Given the description of an element on the screen output the (x, y) to click on. 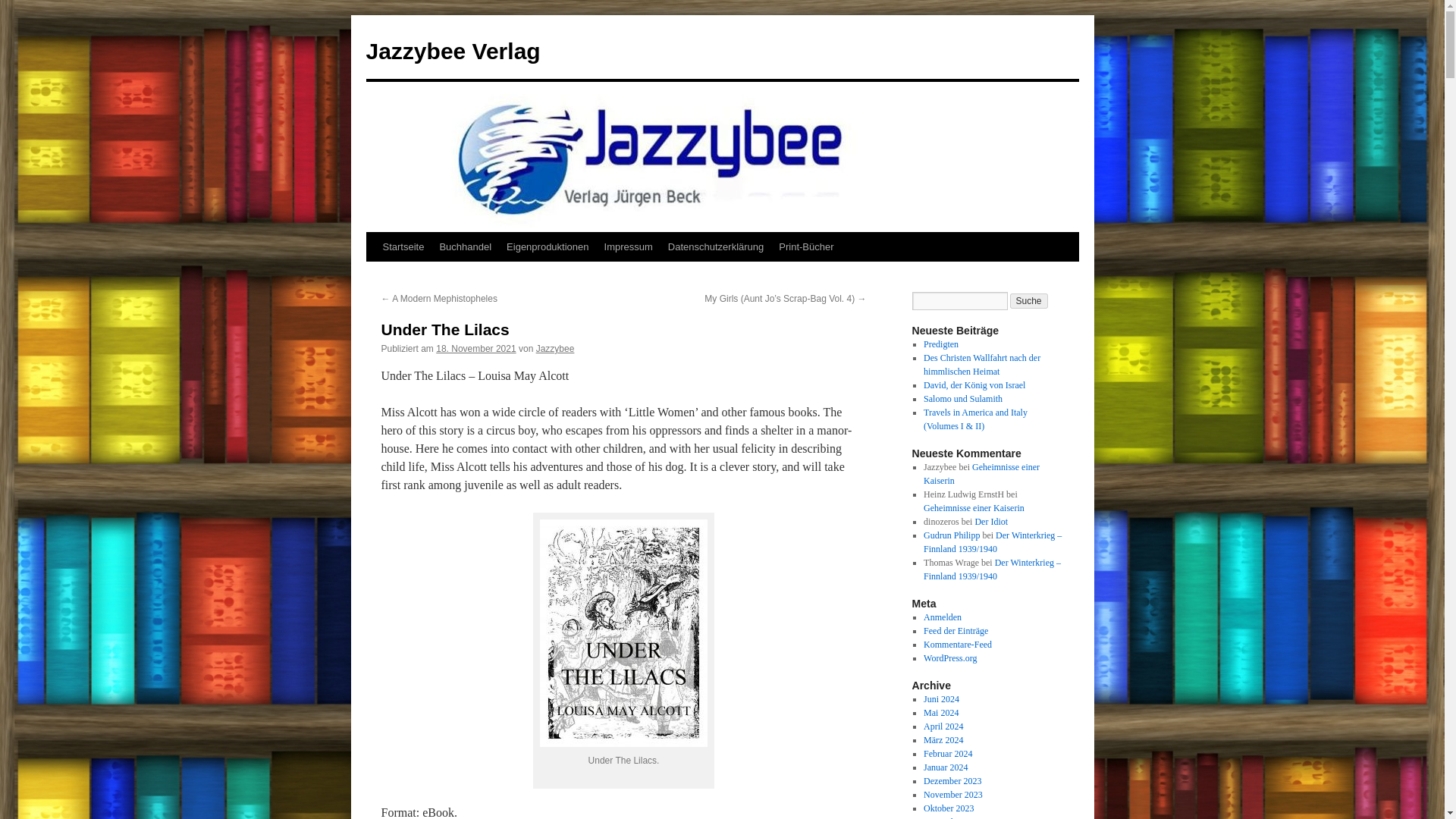
April 2024 (942, 726)
Suche (1029, 300)
18. November 2021 (475, 348)
Geheimnisse einer Kaiserin (981, 473)
Der Idiot (990, 521)
Jazzybee (555, 348)
Buchhandel (464, 246)
Juni 2024 (941, 698)
Jazzybee Verlag (452, 50)
Eigenproduktionen (547, 246)
Suche (1029, 300)
Salomo und Sulamith (963, 398)
Gudrun Philipp (951, 534)
Mai 2024 (940, 712)
Anmelden (941, 616)
